Given the description of an element on the screen output the (x, y) to click on. 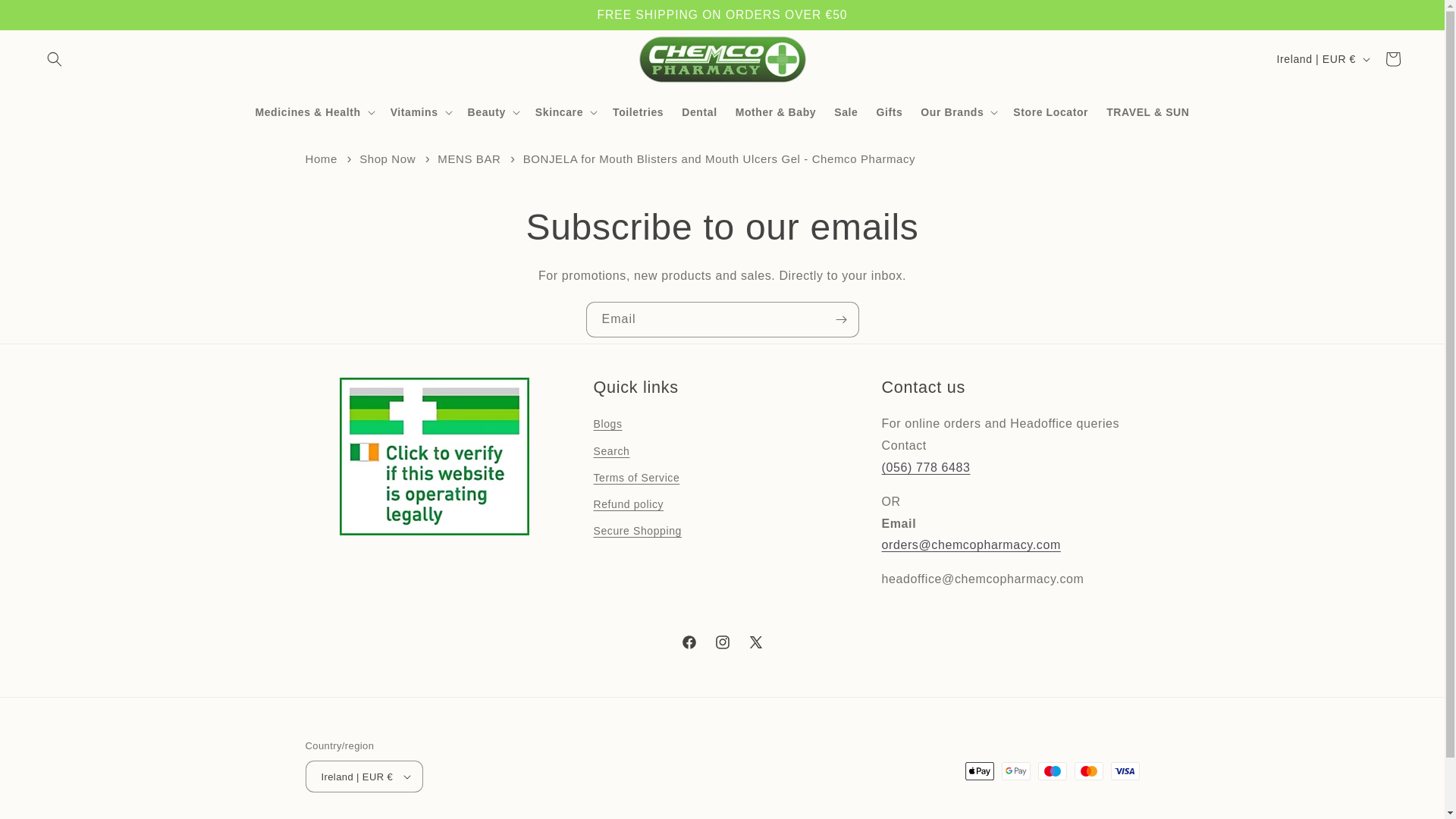
MENS BAR (469, 158)
Shop Now (386, 158)
Home (320, 158)
Skip to content (45, 17)
